Given the description of an element on the screen output the (x, y) to click on. 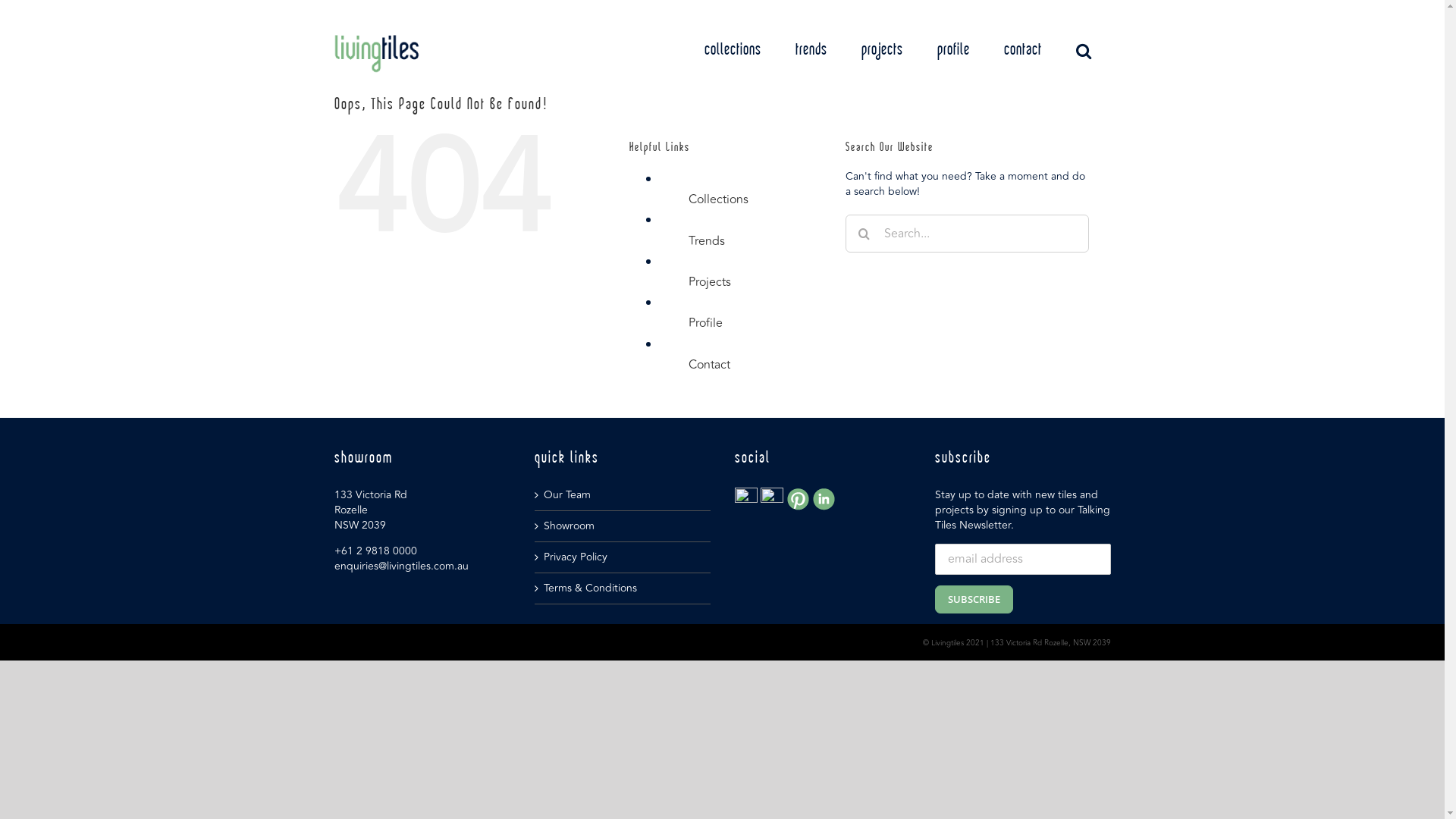
trends Element type: text (810, 49)
Collections Element type: text (718, 199)
Search Element type: hover (1083, 49)
Showroom Element type: text (622, 525)
Our Team Element type: text (622, 494)
enquiries@livingtiles.com.au Element type: text (400, 566)
Contact Element type: text (709, 364)
+61 2 9818 0000 Element type: text (374, 550)
Trends Element type: text (706, 241)
collections Element type: text (731, 49)
Subscribe Element type: text (973, 599)
projects Element type: text (882, 49)
contact Element type: text (1022, 49)
Privacy Policy Element type: text (622, 556)
Terms & Conditions Element type: text (622, 588)
133 Victoria Rd
Rozelle
NSW 2039 Element type: text (369, 509)
Projects Element type: text (709, 282)
Profile Element type: text (705, 322)
profile Element type: text (953, 49)
